Given the description of an element on the screen output the (x, y) to click on. 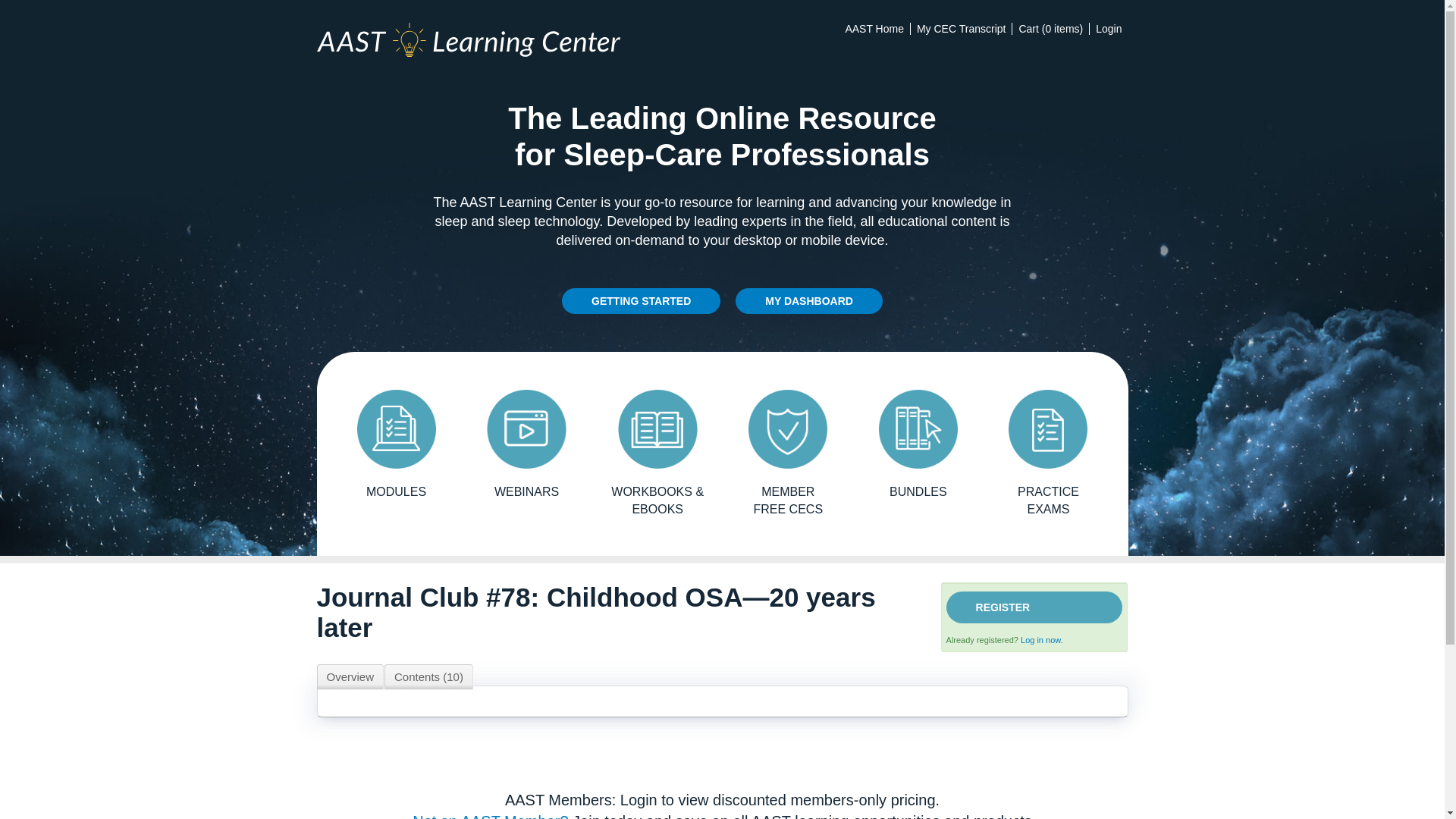
WEBINARS (526, 444)
REGISTER (1034, 607)
BUNDLES (918, 444)
Overview (350, 677)
Log in now. (1041, 639)
My CEC Transcript (960, 28)
Login (1108, 28)
GETTING STARTED (641, 300)
AAST Home (874, 28)
MY DASHBOARD (808, 300)
